Given the description of an element on the screen output the (x, y) to click on. 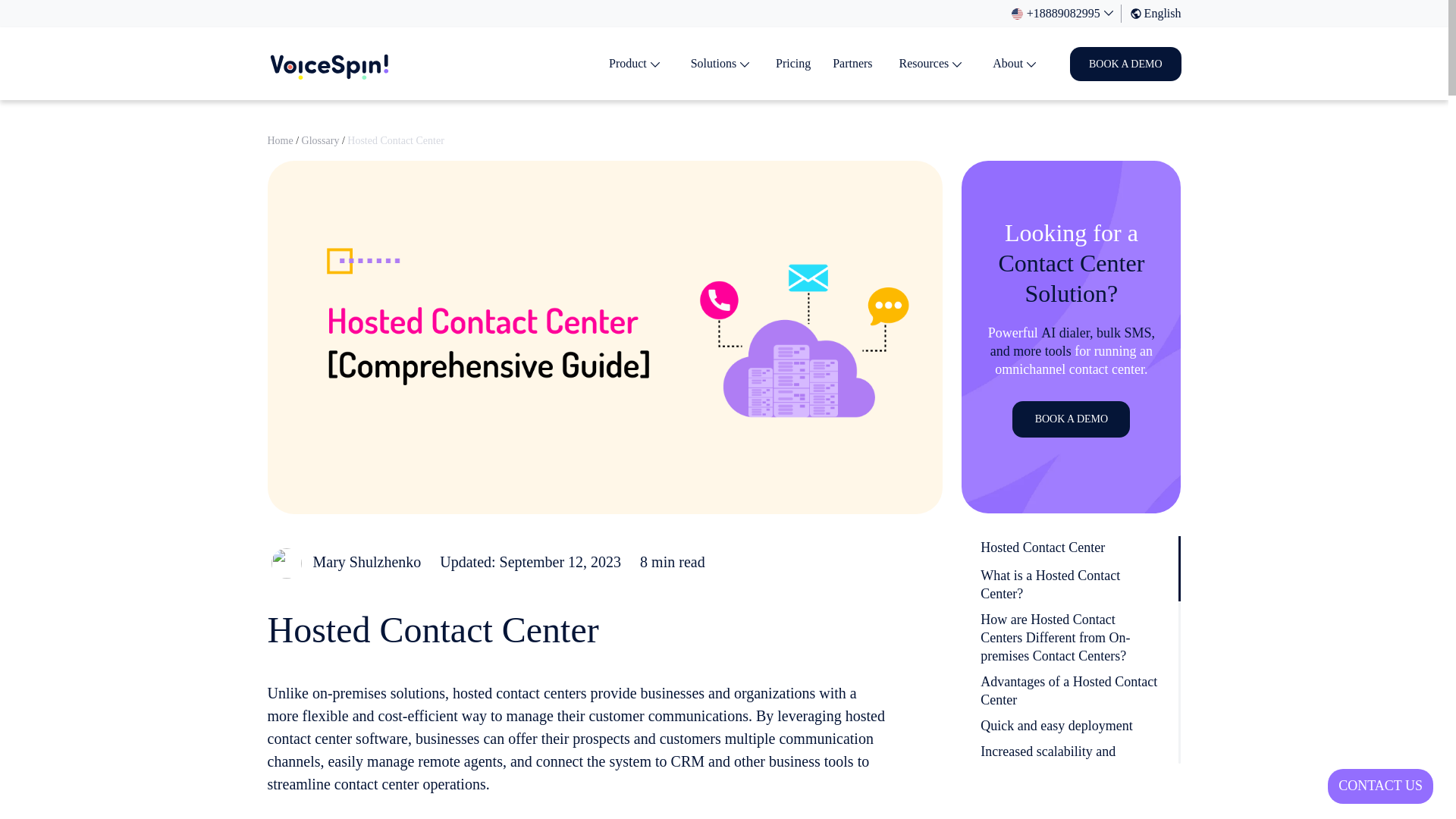
Product (627, 62)
Product (633, 63)
English (1150, 13)
